Given the description of an element on the screen output the (x, y) to click on. 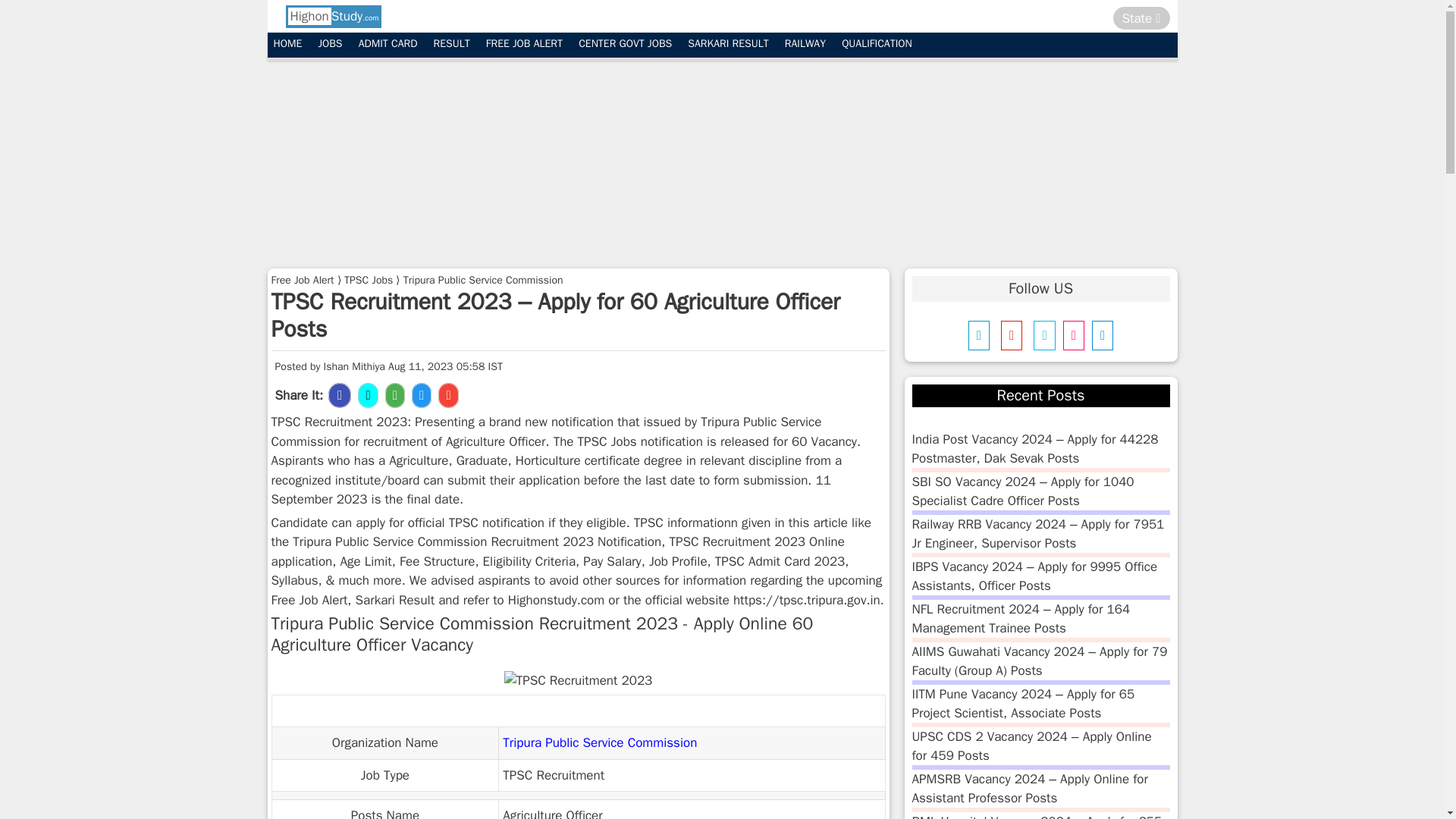
FREE JOB ALERT (524, 44)
ADMIT CARD (387, 44)
RESULT (452, 44)
TPSC Jobs (368, 278)
CENTER GOVT JOBS (625, 44)
HOME (286, 44)
JOBS (329, 44)
Free Job Alert (302, 278)
RAILWAY (804, 44)
SARKARI RESULT (727, 44)
QUALIFICATION (876, 44)
HighonStudy.com (332, 15)
